Given the description of an element on the screen output the (x, y) to click on. 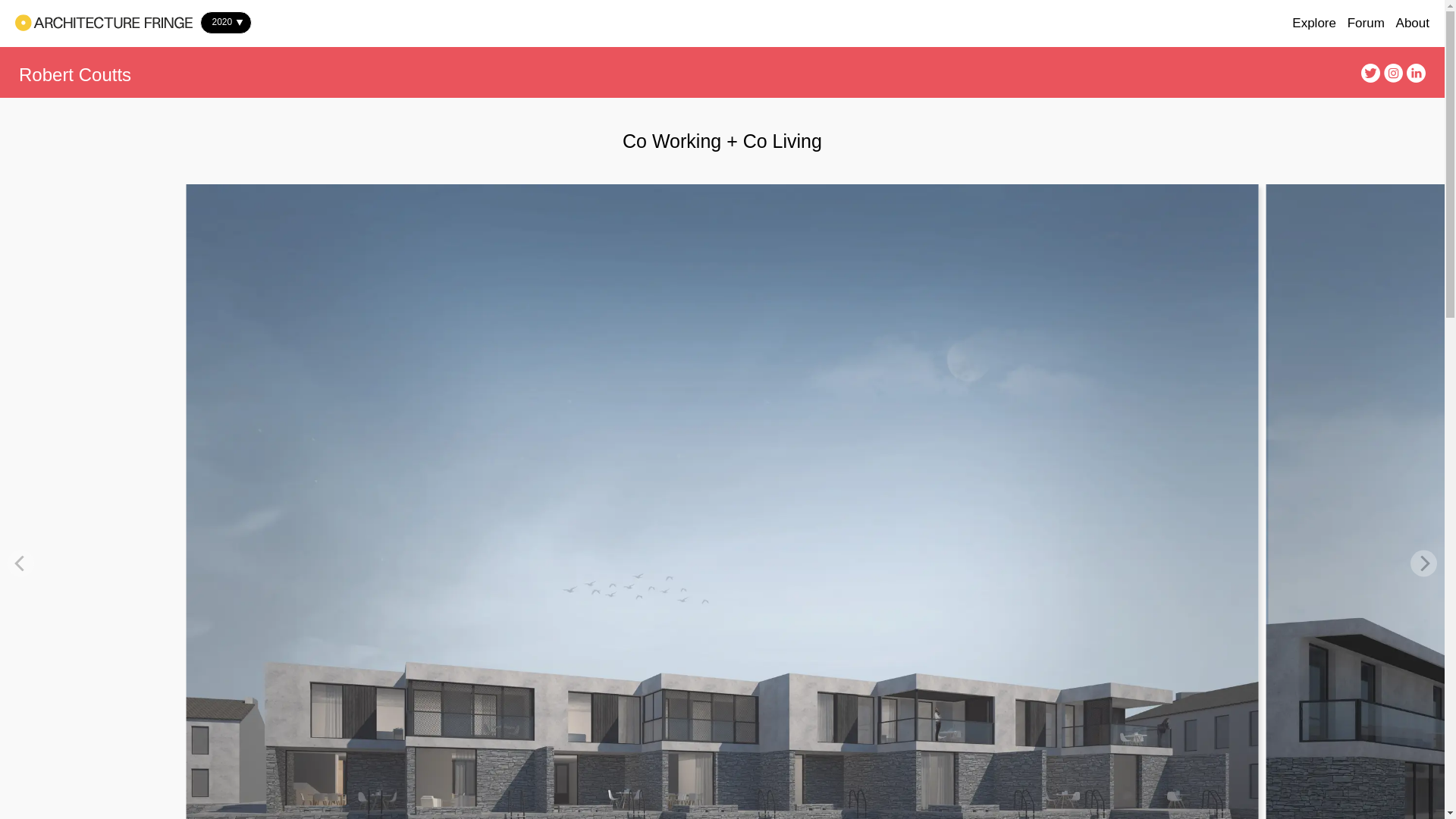
logotype Created with Sketch. (103, 23)
logotype Created with Sketch. (103, 22)
About (1412, 22)
Explore (1314, 22)
Forum (1366, 22)
